Given the description of an element on the screen output the (x, y) to click on. 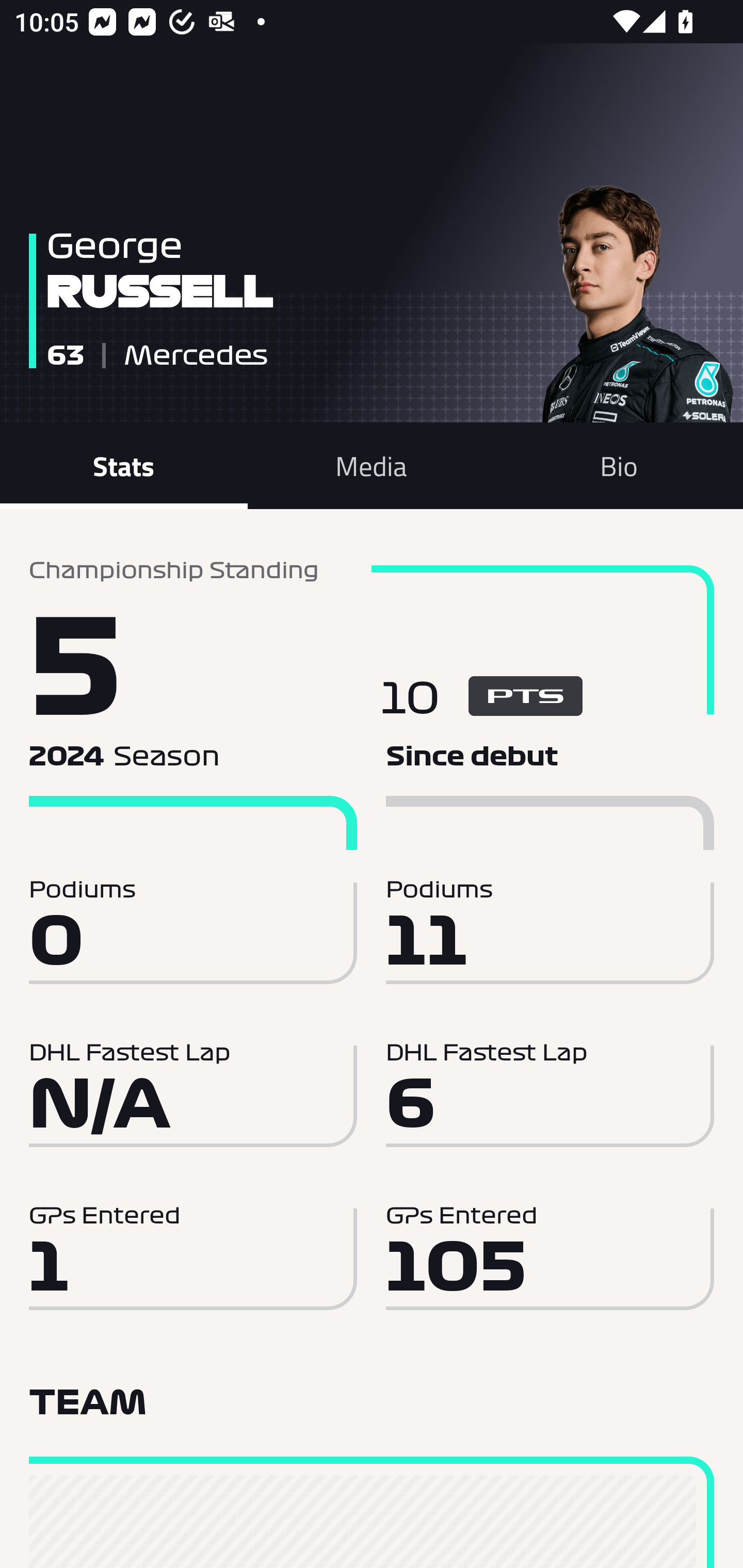
Media (371, 465)
Bio (619, 465)
